Given the description of an element on the screen output the (x, y) to click on. 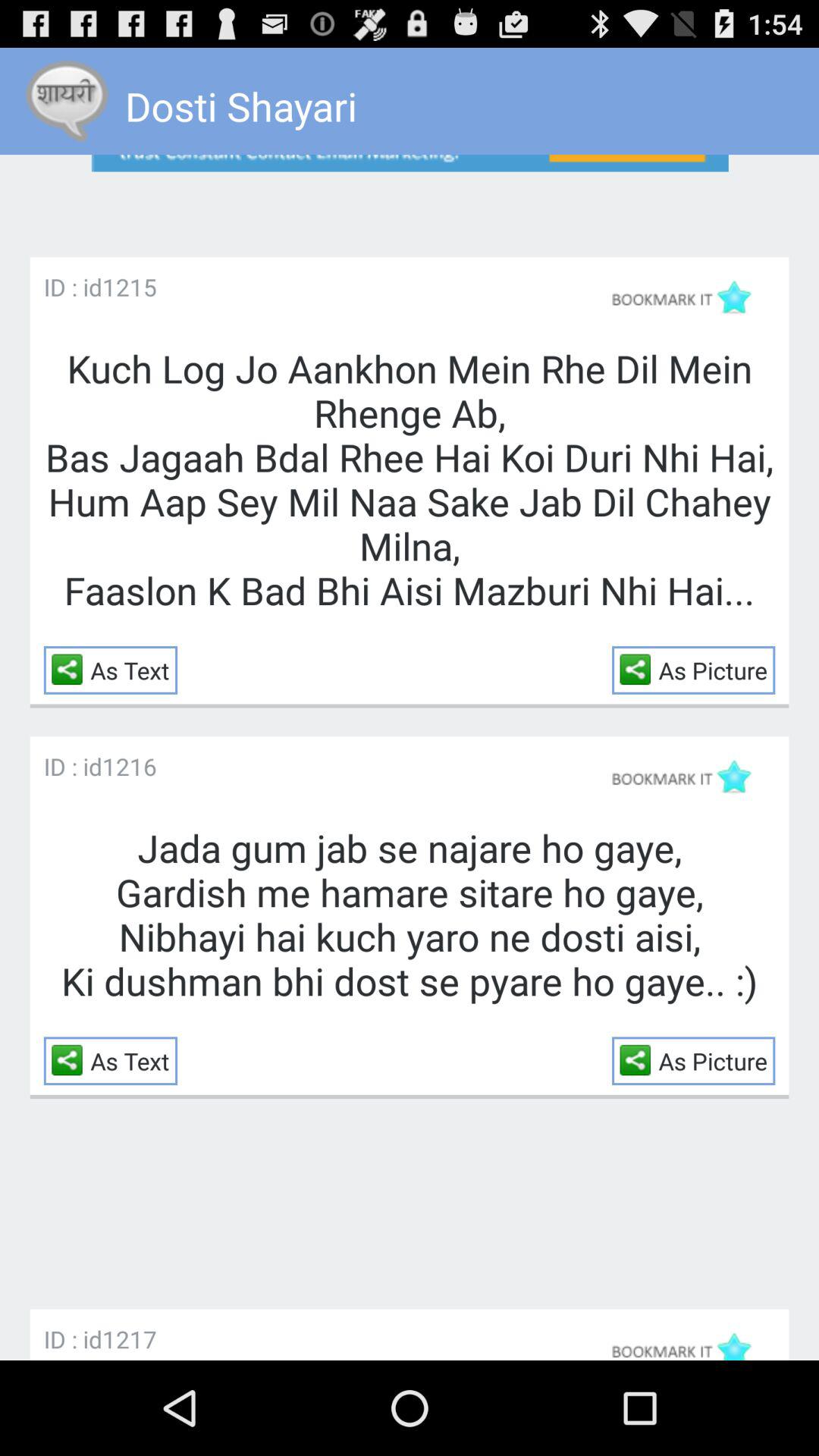
bookmark the selection (688, 296)
